Given the description of an element on the screen output the (x, y) to click on. 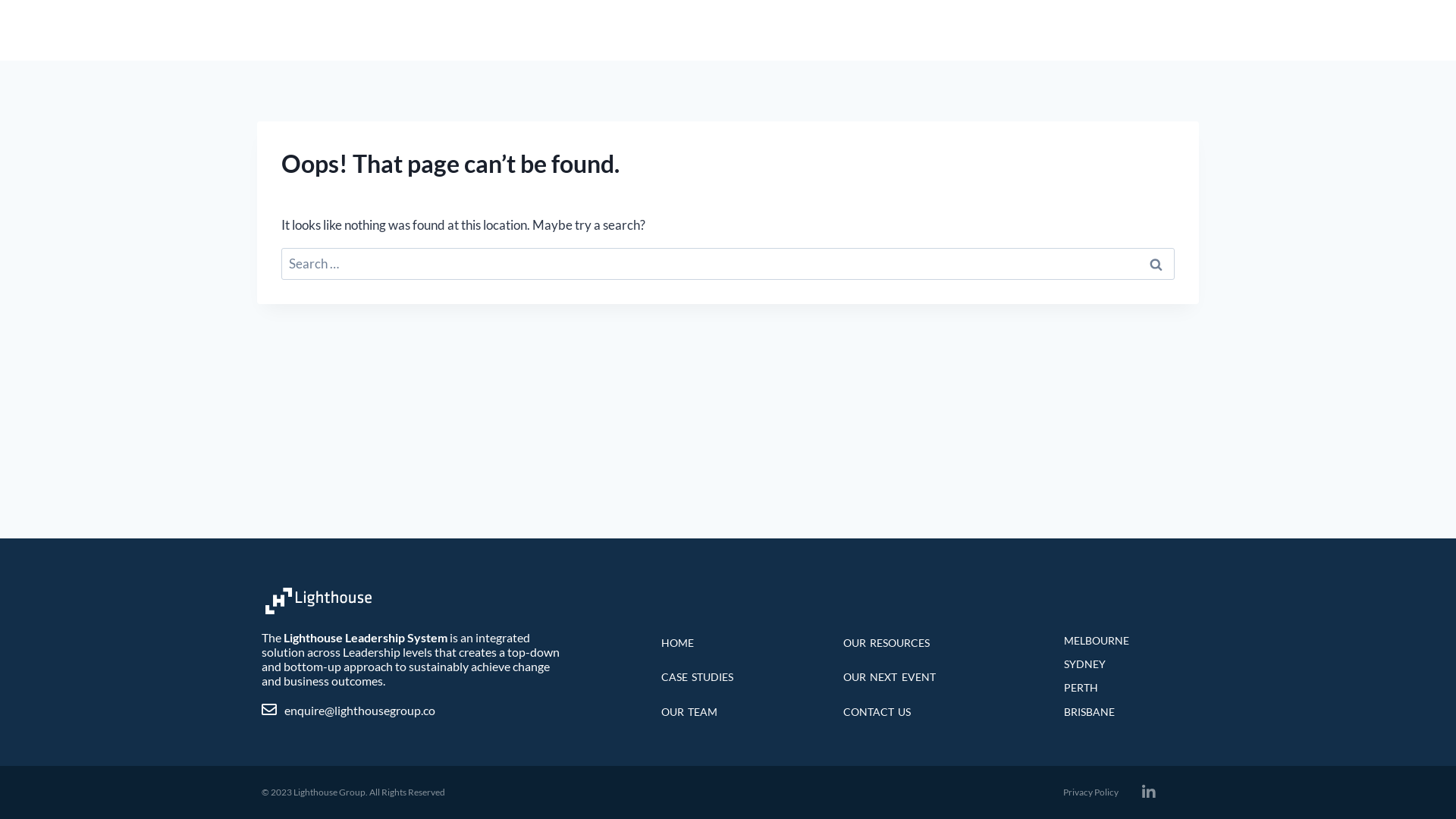
CAPABILITY Element type: text (811, 29)
Privacy Policy Element type: text (1090, 791)
PERTH Element type: text (1125, 687)
OUR NEXT EVENT Element type: text (936, 676)
LEADERSHIP Element type: text (716, 29)
INSIGHTS Element type: text (902, 29)
CONTACT US Element type: text (936, 711)
OUR RESOURCES Element type: text (936, 642)
MELBOURNE Element type: text (1125, 640)
SYDNEY Element type: text (1125, 663)
OUR TEAM Element type: text (734, 711)
HOME Element type: text (734, 642)
Search Element type: text (1155, 263)
HOME Element type: text (638, 29)
CONTACT US Element type: text (1149, 29)
OUR TEAM Element type: text (989, 29)
EVENTS Element type: text (1066, 29)
BRISBANE Element type: text (1125, 711)
CASE STUDIES Element type: text (734, 676)
